Given the description of an element on the screen output the (x, y) to click on. 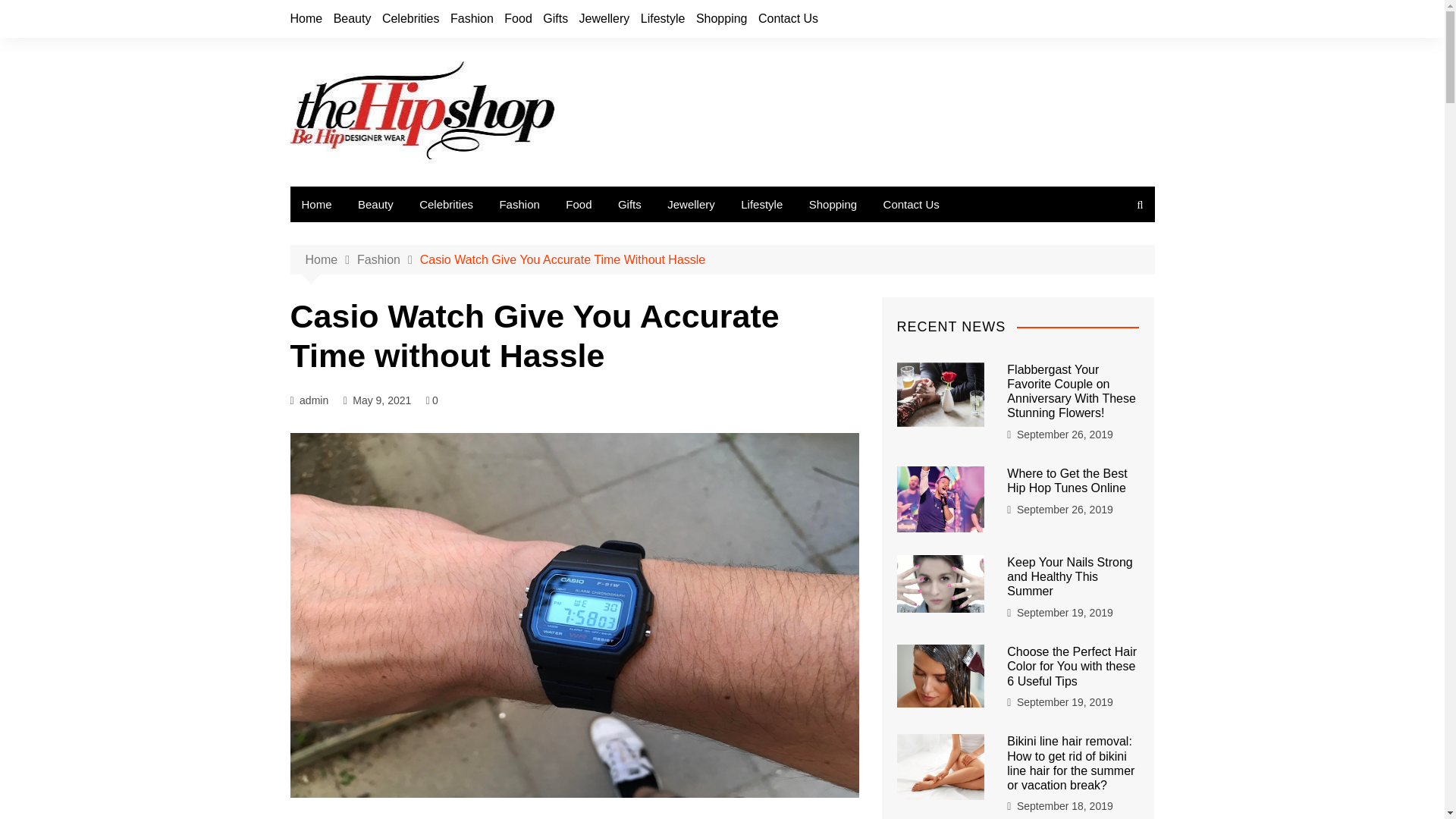
Celebrities (410, 18)
May 9, 2021 (381, 400)
Gifts (555, 18)
Beauty (375, 203)
Home (330, 260)
Food (578, 203)
Contact Us (788, 18)
Jewellery (691, 203)
Fashion (471, 18)
Home (305, 18)
Food (517, 18)
Gifts (629, 203)
Shopping (832, 203)
Jewellery (604, 18)
Lifestyle (662, 18)
